Given the description of an element on the screen output the (x, y) to click on. 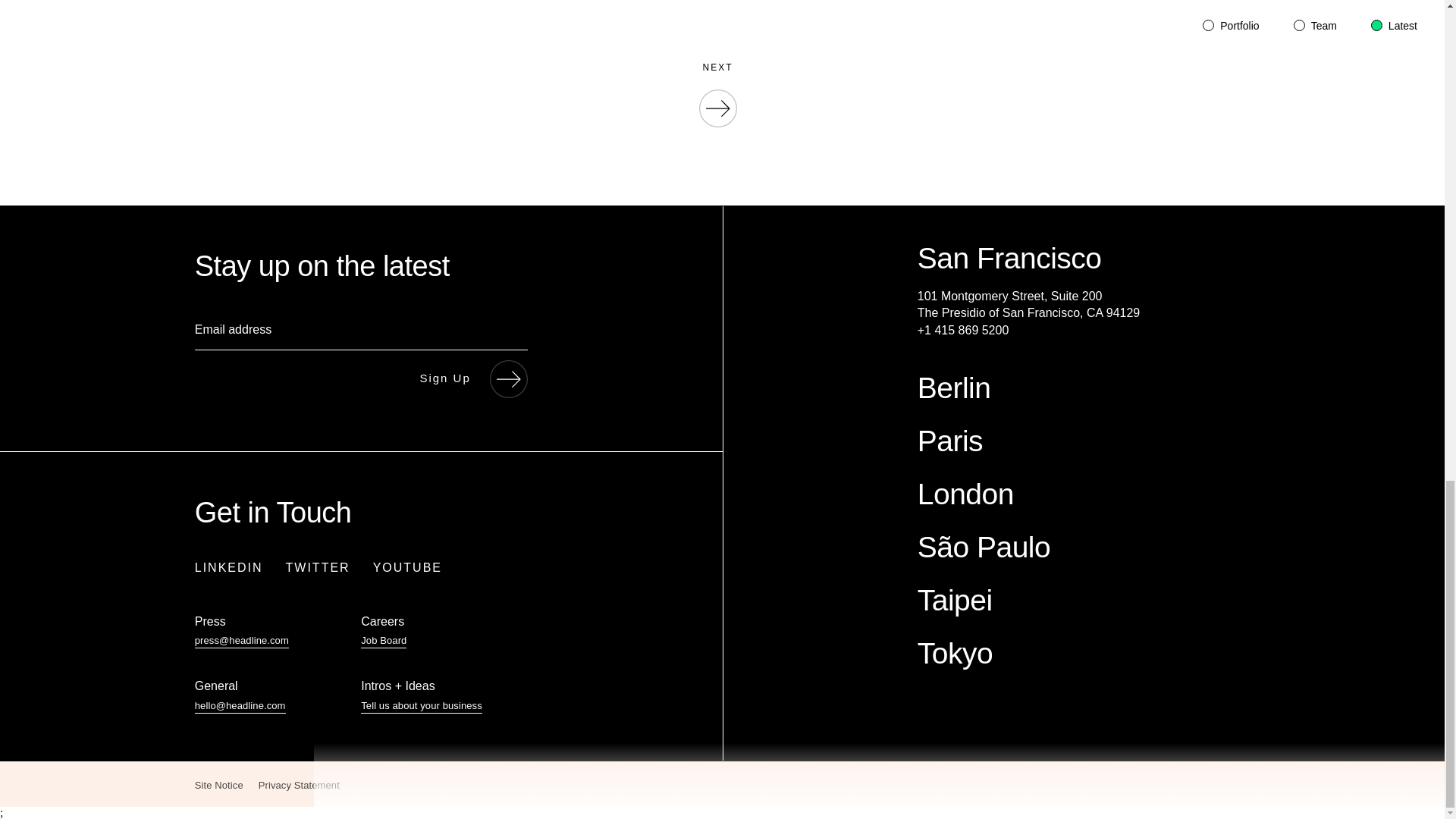
Privacy Statement (299, 785)
YOUTUBE (407, 567)
Site Notice (219, 785)
LINKEDIN (229, 567)
TWITTER (317, 567)
Tell us about your business (421, 706)
Job Board (383, 641)
